Given the description of an element on the screen output the (x, y) to click on. 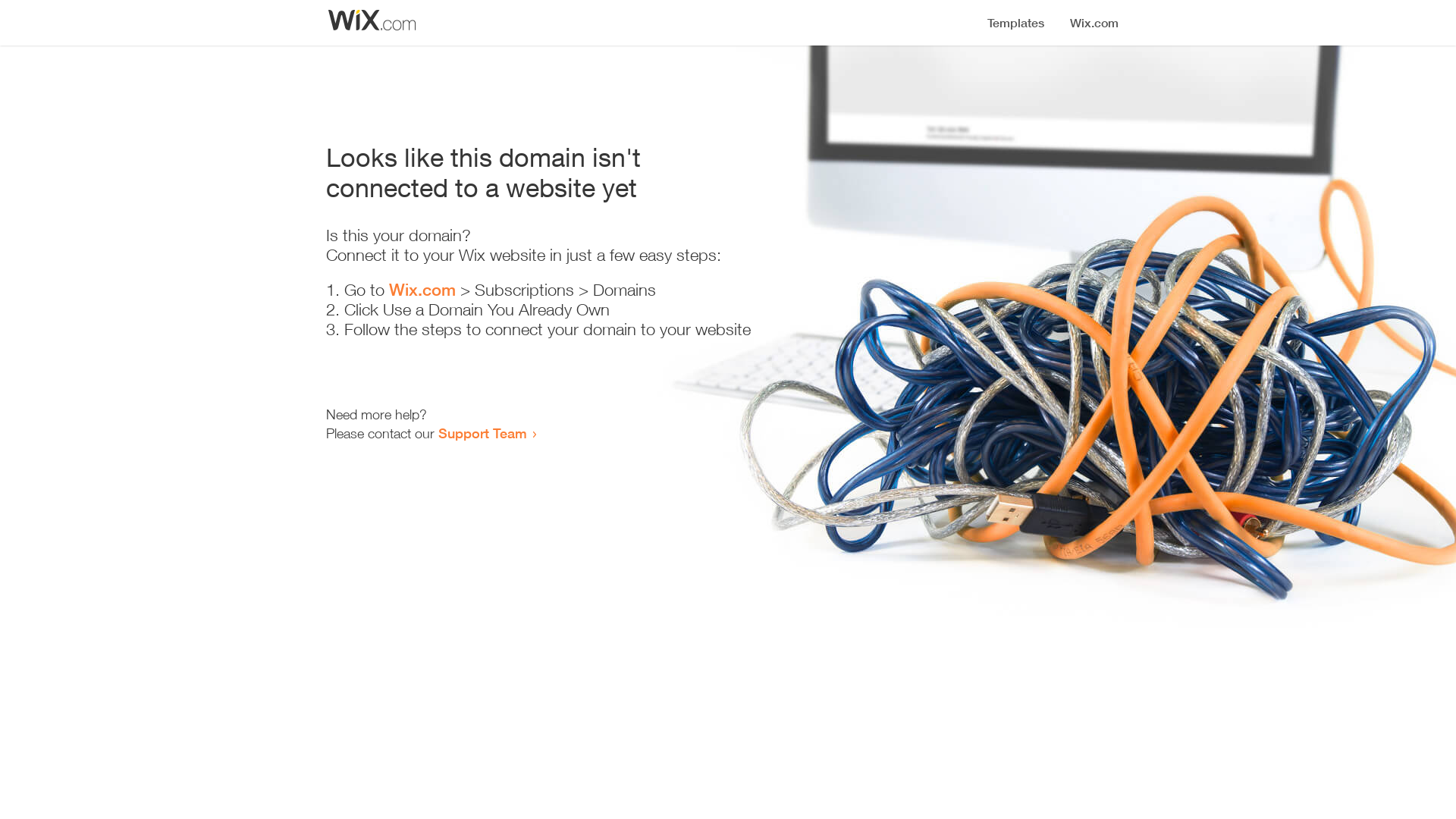
Support Team Element type: text (482, 432)
Wix.com Element type: text (422, 289)
